Given the description of an element on the screen output the (x, y) to click on. 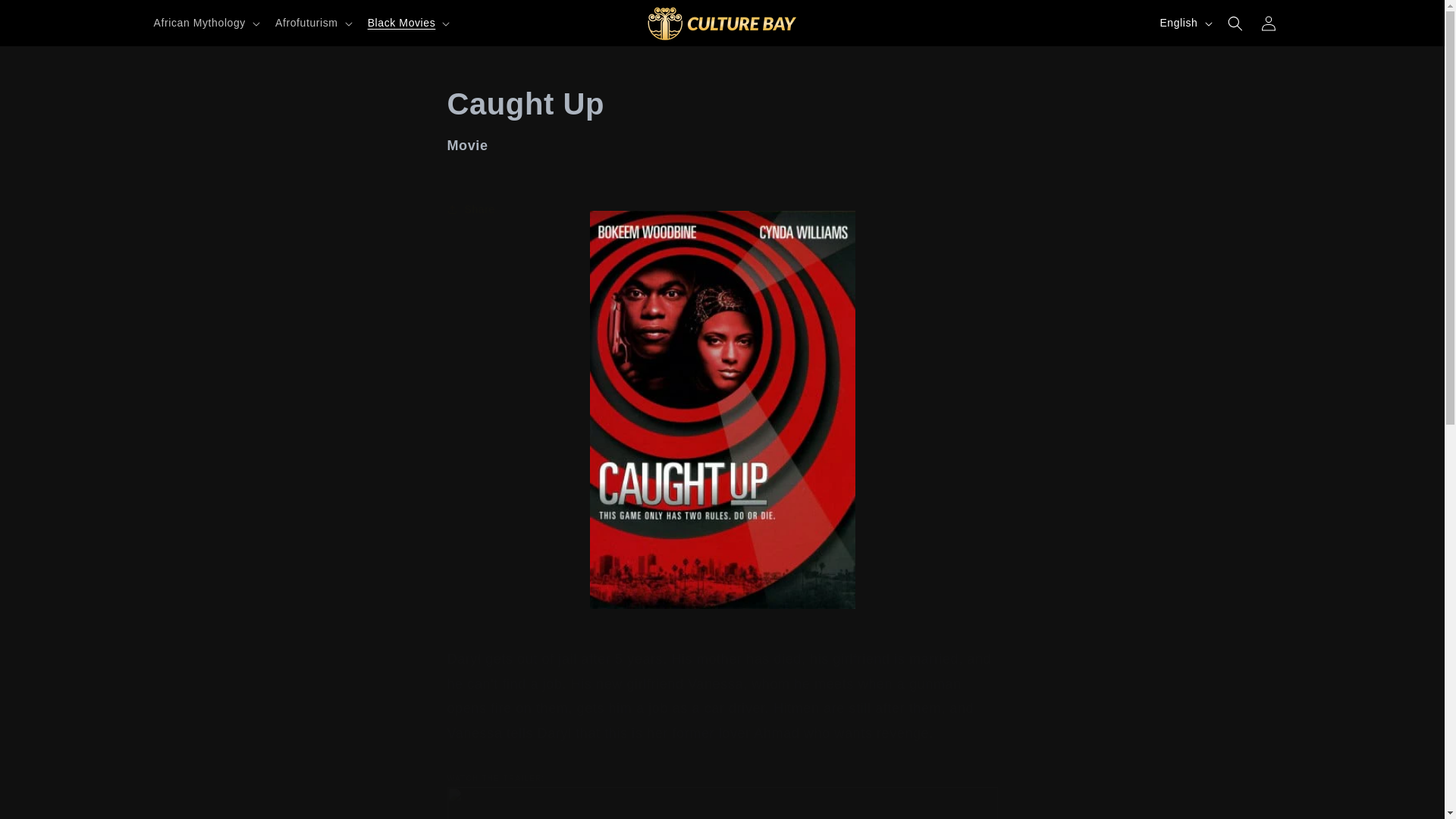
Share (721, 209)
Skip to content (45, 17)
